Given the description of an element on the screen output the (x, y) to click on. 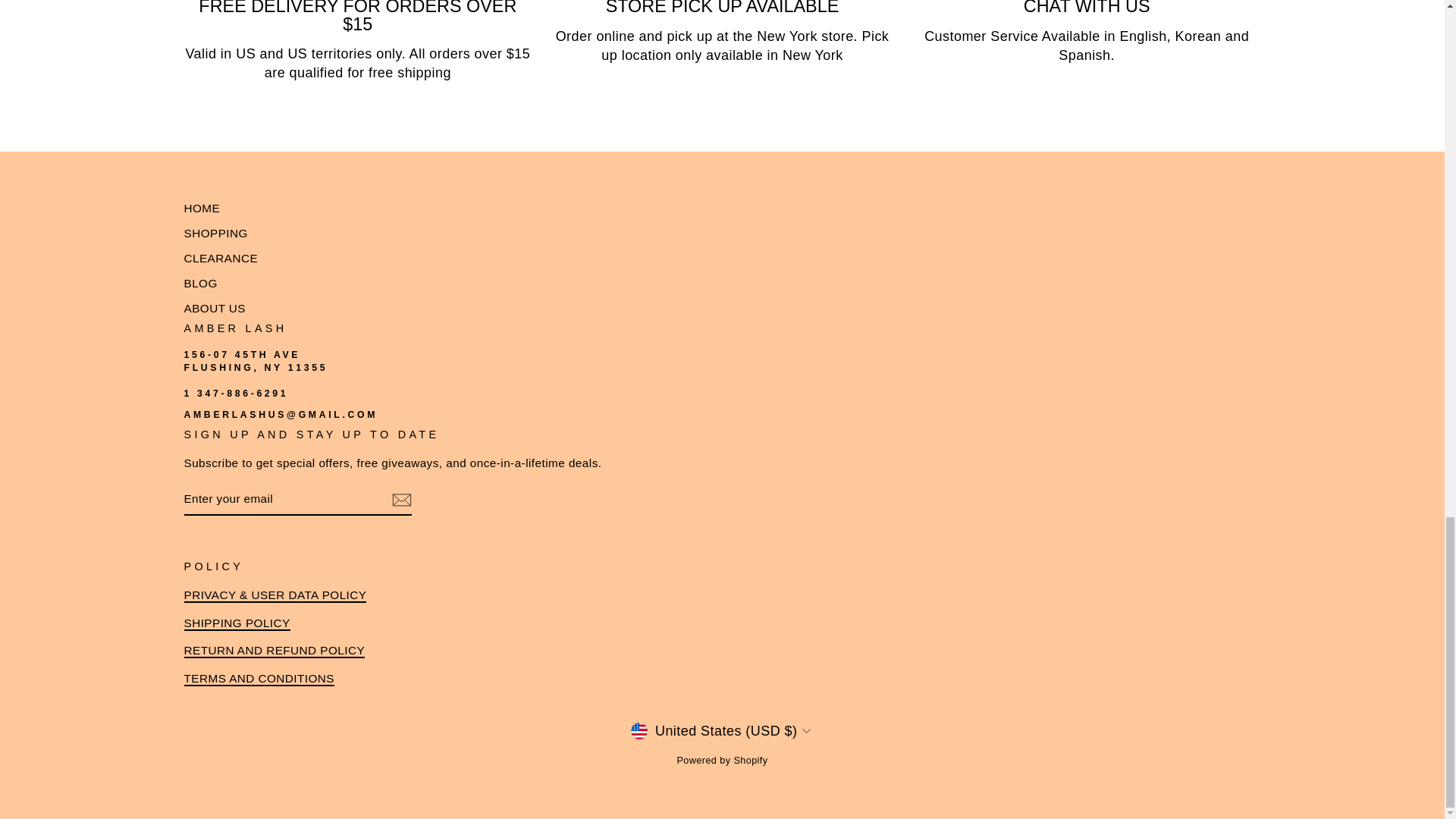
icon-email (400, 499)
